Given the description of an element on the screen output the (x, y) to click on. 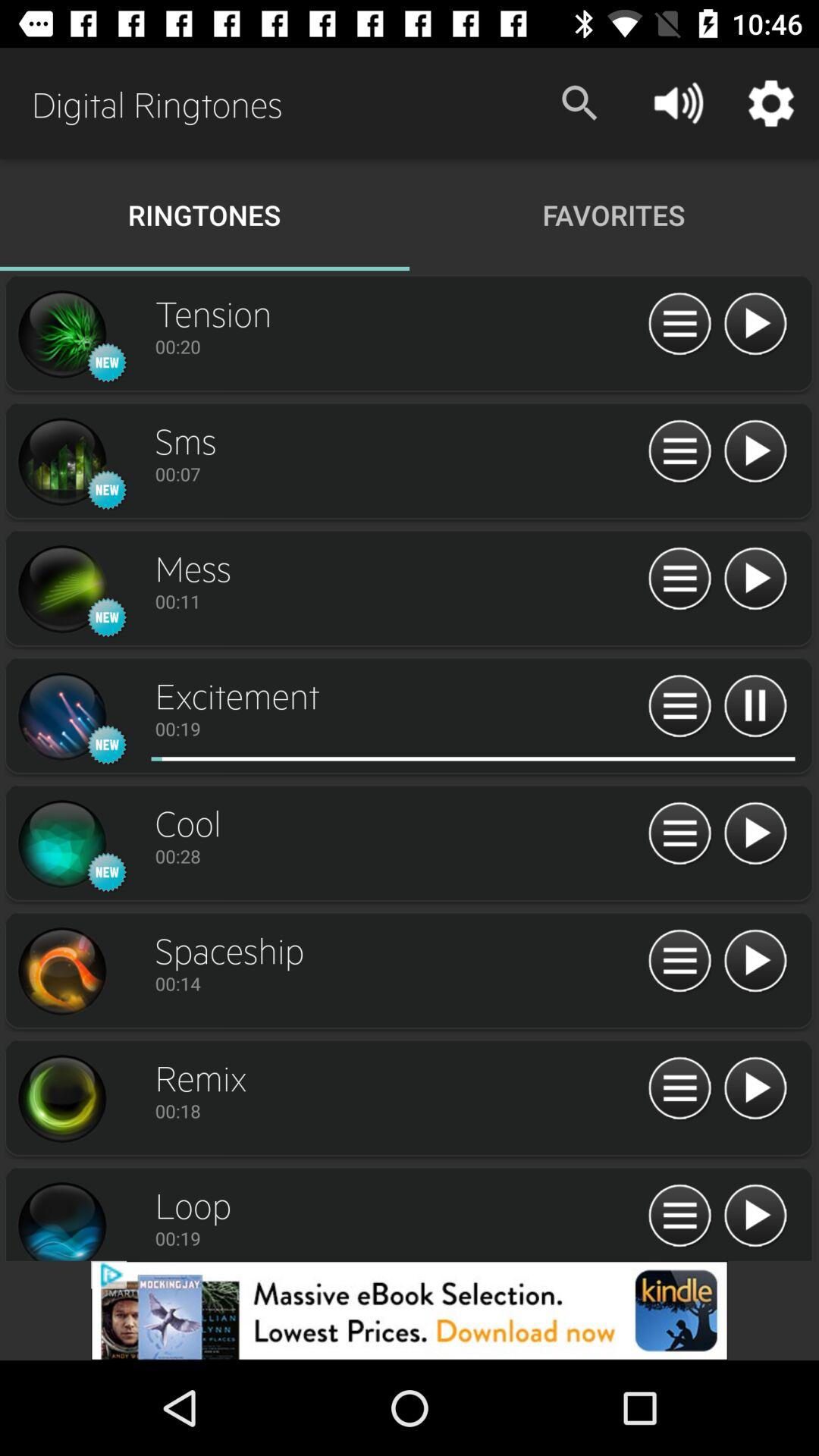
see the menu (679, 1216)
